Given the description of an element on the screen output the (x, y) to click on. 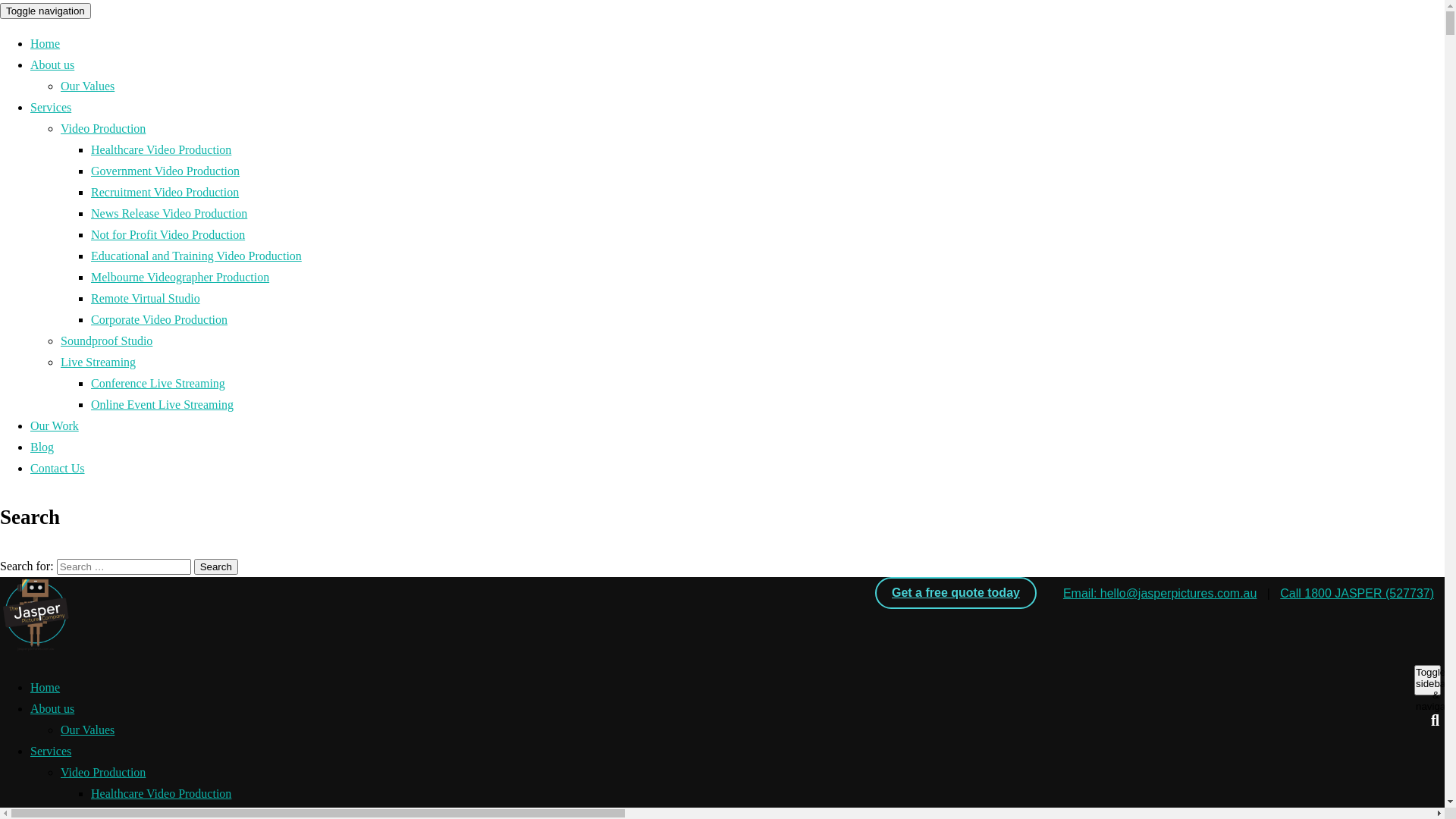
About us Element type: text (52, 64)
Educational and Training Video Production Element type: text (196, 255)
Healthcare Video Production Element type: text (161, 149)
Online Event Live Streaming Element type: text (162, 404)
Call 1800 JASPER (527737) Element type: text (1357, 592)
Our Work Element type: text (54, 425)
Melbourne Videographer Production Element type: text (180, 276)
Video Production Element type: text (102, 128)
Video Production Element type: text (102, 771)
News Release Video Production Element type: text (169, 213)
Services Element type: text (50, 750)
Email: hello@jasperpictures.com.au Element type: text (1159, 592)
Toggle navigation Element type: text (45, 10)
Home Element type: text (44, 43)
Get a free quote today Element type: text (955, 592)
About us Element type: text (52, 708)
Healthcare Video Production Element type: text (161, 793)
Toggle sidebar & navigation Element type: text (1427, 680)
Recruitment Video Production Element type: text (164, 191)
Soundproof Studio Element type: text (106, 340)
Blog Element type: text (41, 446)
Our Values Element type: text (87, 729)
Contact Us Element type: text (57, 467)
Conference Live Streaming Element type: text (158, 382)
Our Values Element type: text (87, 85)
Home Element type: text (44, 686)
Not for Profit Video Production Element type: text (167, 234)
Services Element type: text (50, 106)
Live Streaming Element type: text (97, 361)
Search Element type: text (216, 566)
Government Video Production Element type: text (165, 170)
Corporate Video Production Element type: text (159, 319)
Remote Virtual Studio Element type: text (145, 297)
